Given the description of an element on the screen output the (x, y) to click on. 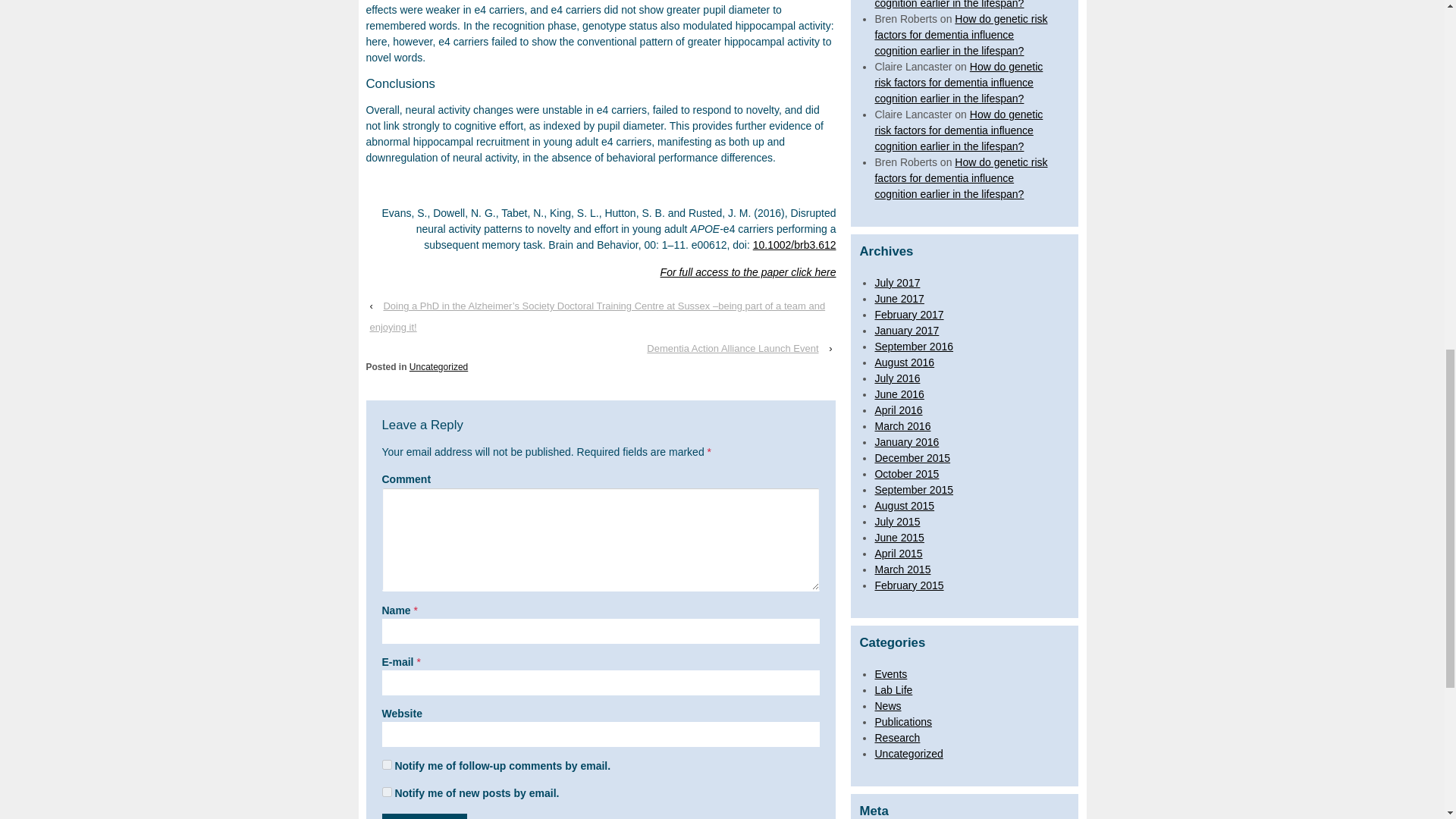
subscribe (386, 764)
Uncategorized (438, 366)
August 2016 (904, 362)
June 2016 (899, 394)
Post Comment (424, 816)
subscribe (386, 791)
Post Comment (424, 816)
July 2017 (897, 282)
July 2016 (897, 377)
January 2017 (907, 330)
